Given the description of an element on the screen output the (x, y) to click on. 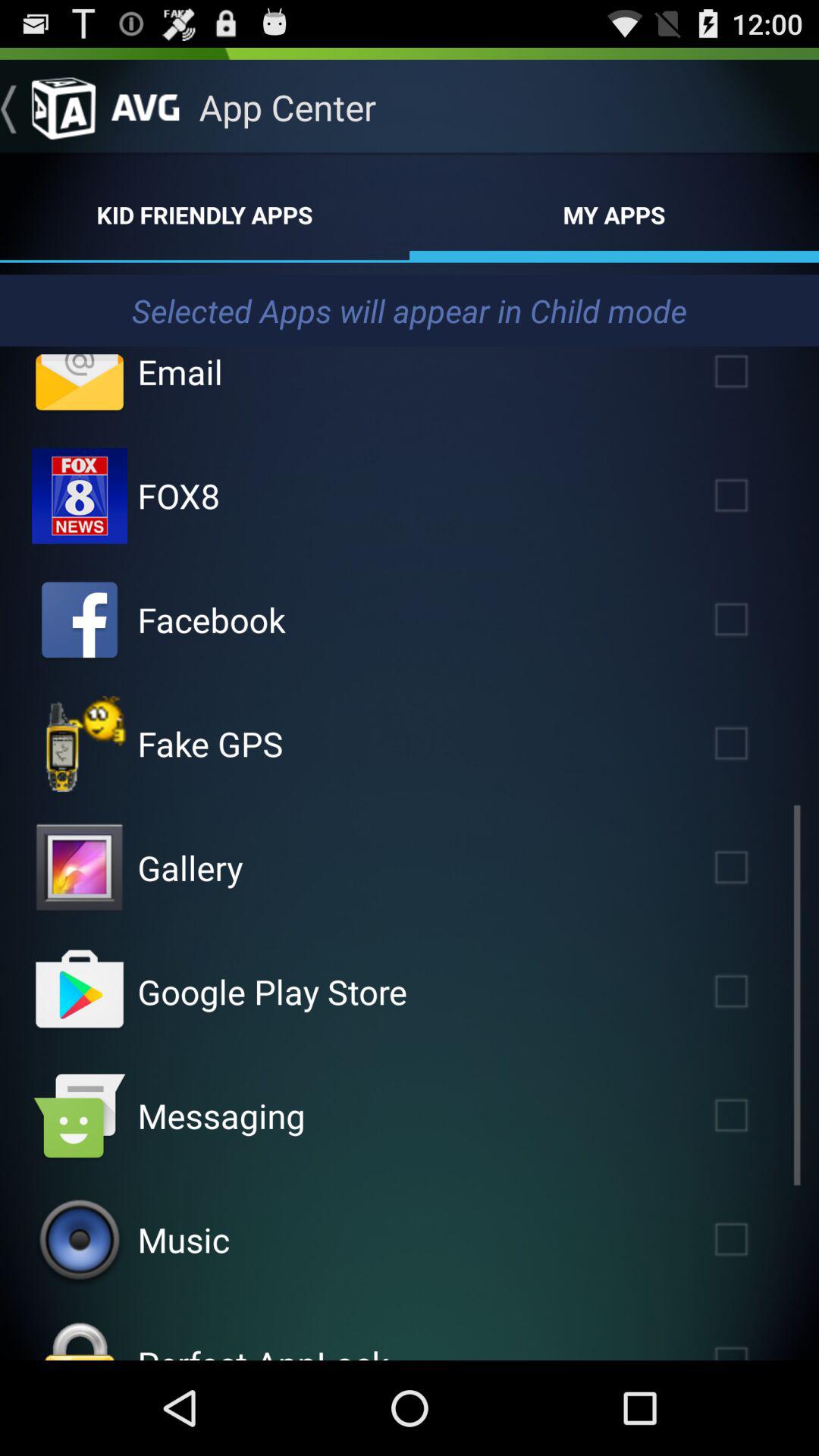
scroll until music app (183, 1239)
